Given the description of an element on the screen output the (x, y) to click on. 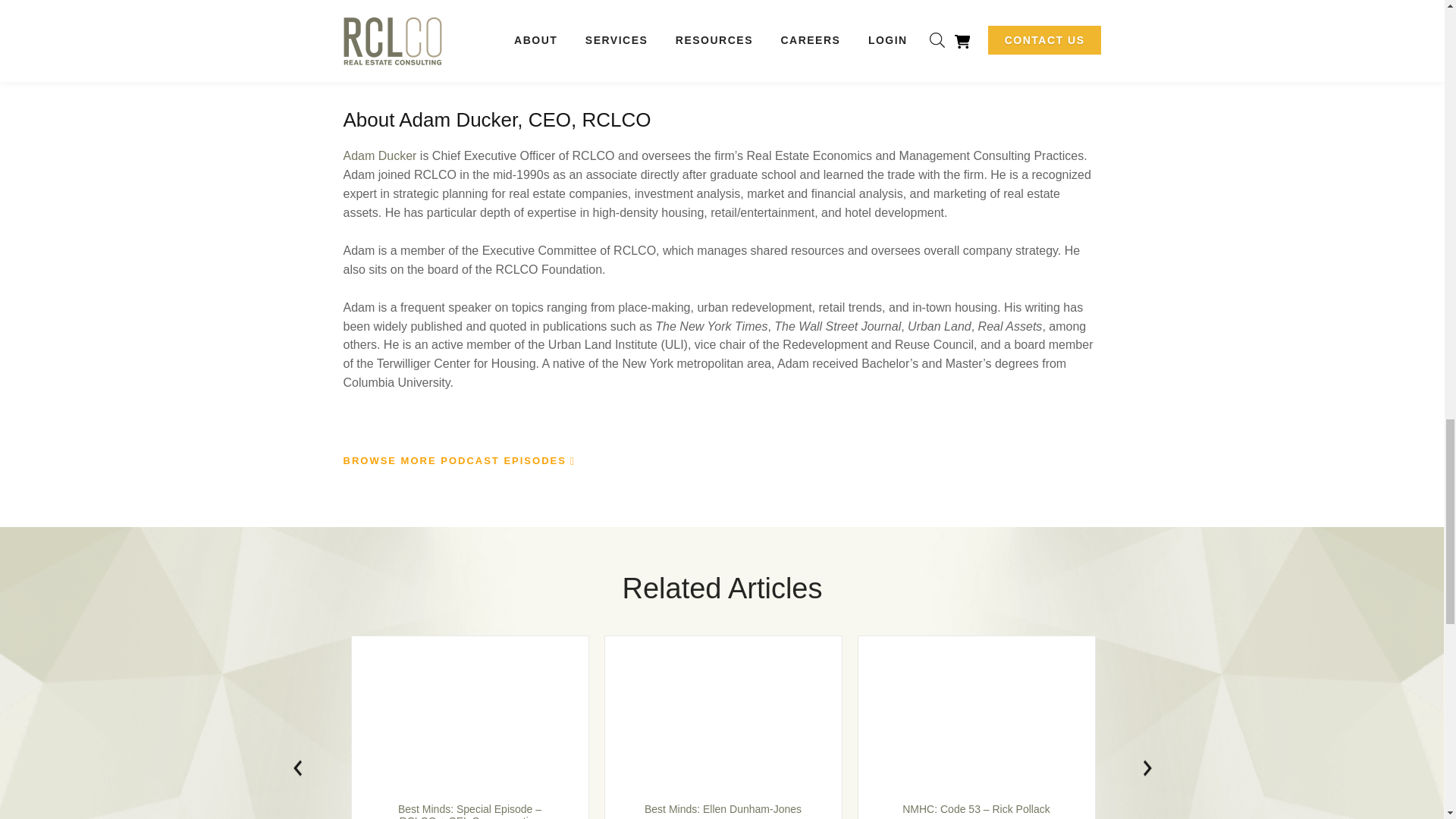
Adam Ducker (379, 155)
BROWSE MORE PODCAST EPISODES (457, 460)
